Given the description of an element on the screen output the (x, y) to click on. 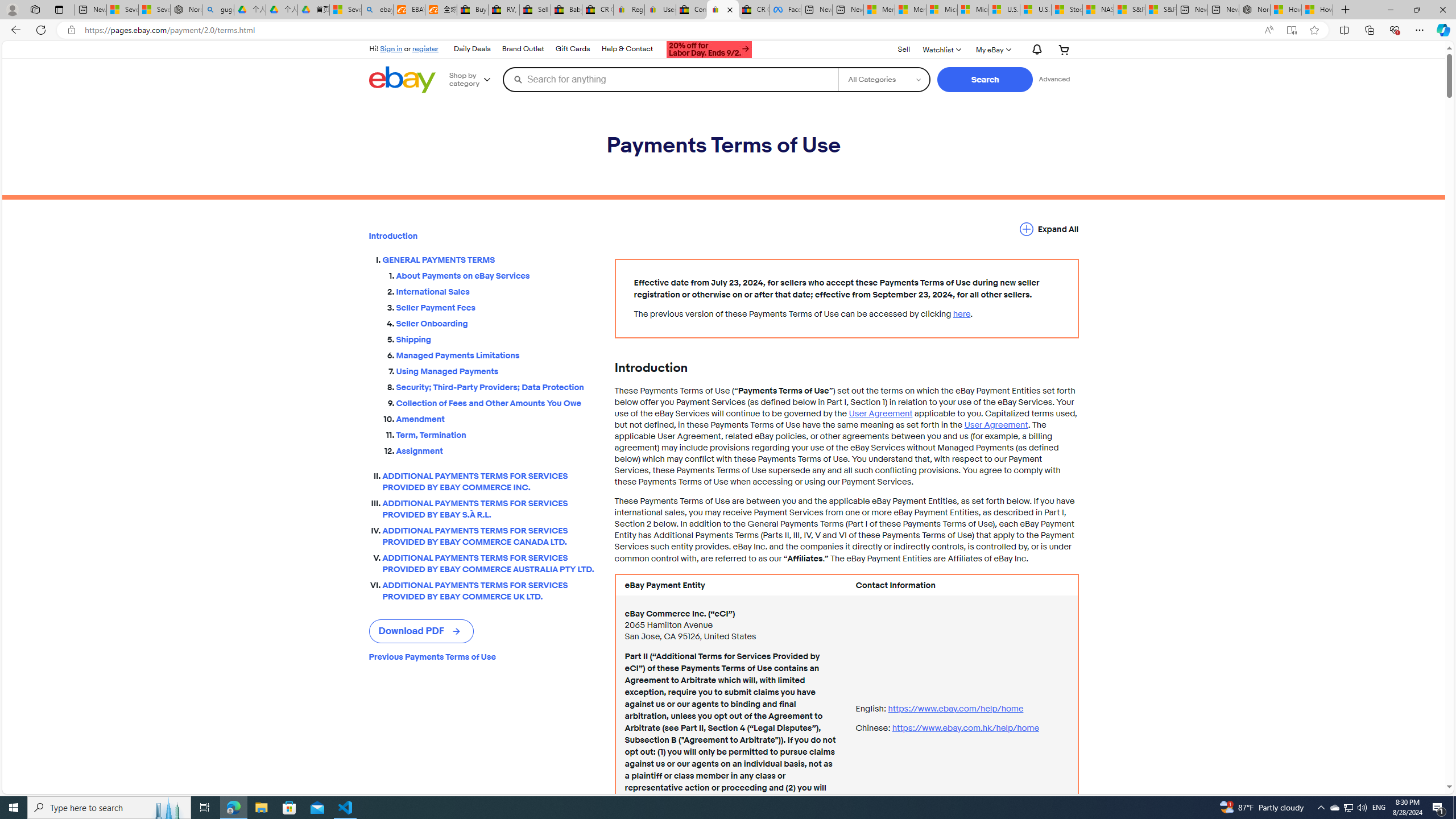
About Payments on eBay Services (496, 275)
Help & Contact (627, 49)
User Privacy Notice | eBay (660, 9)
GENERAL PAYMENTS TERMS (488, 259)
AutomationID: gh-ti (707, 47)
Seller Onboarding (496, 321)
Shipping (496, 339)
